Given the description of an element on the screen output the (x, y) to click on. 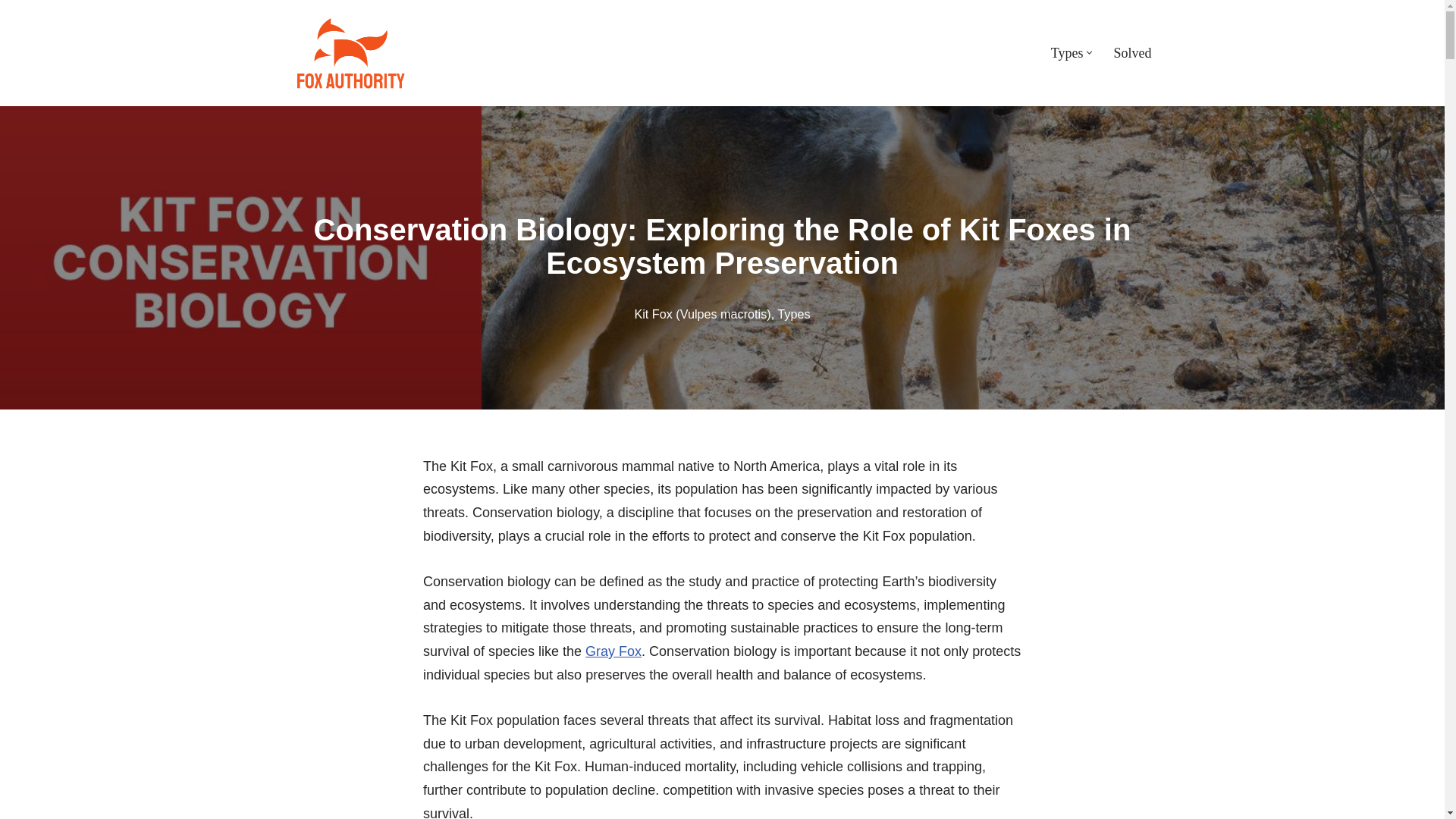
Types (793, 314)
Solved (1132, 52)
Types (1067, 52)
Skip to content (11, 31)
